Given the description of an element on the screen output the (x, y) to click on. 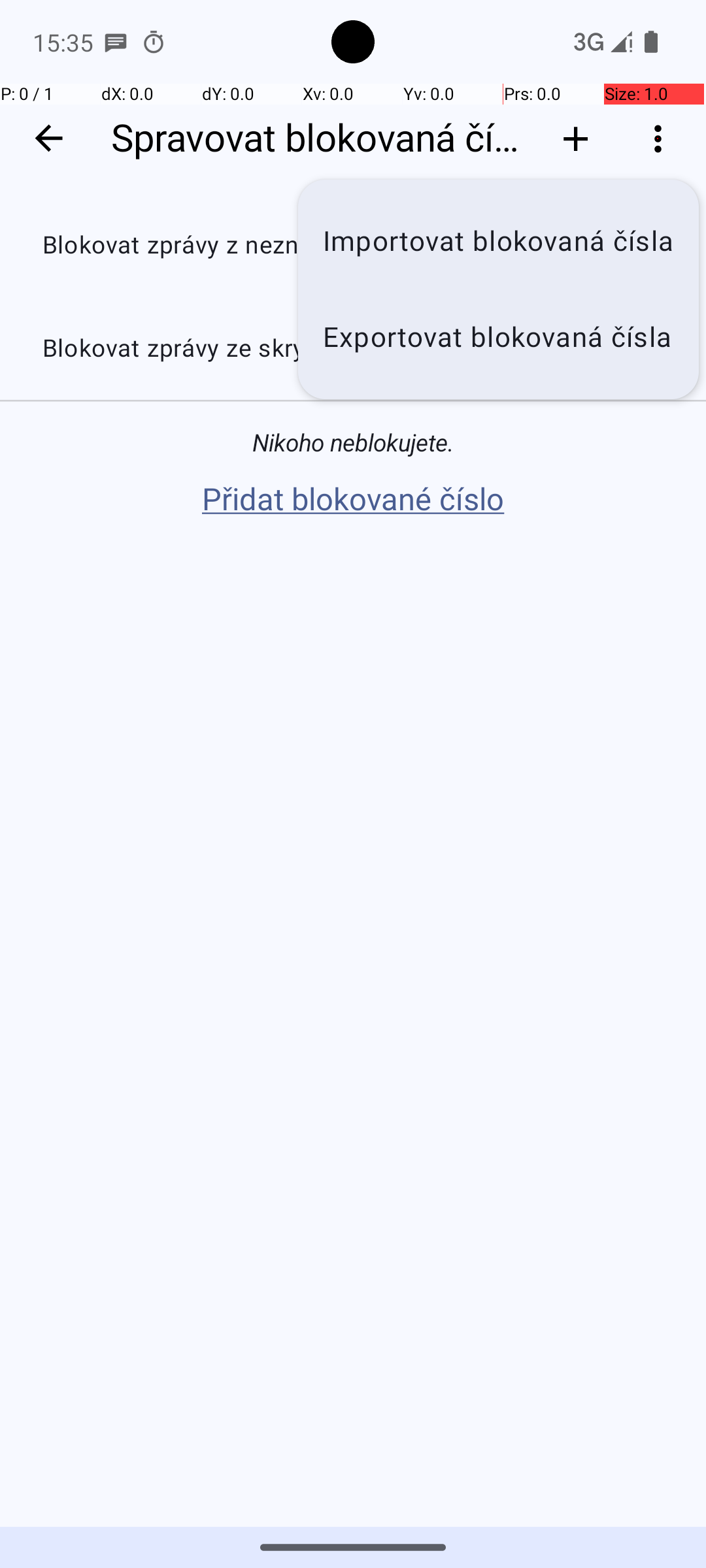
Importovat blokovaná čísla Element type: android.widget.TextView (498, 240)
Exportovat blokovaná čísla Element type: android.widget.TextView (498, 337)
